Given the description of an element on the screen output the (x, y) to click on. 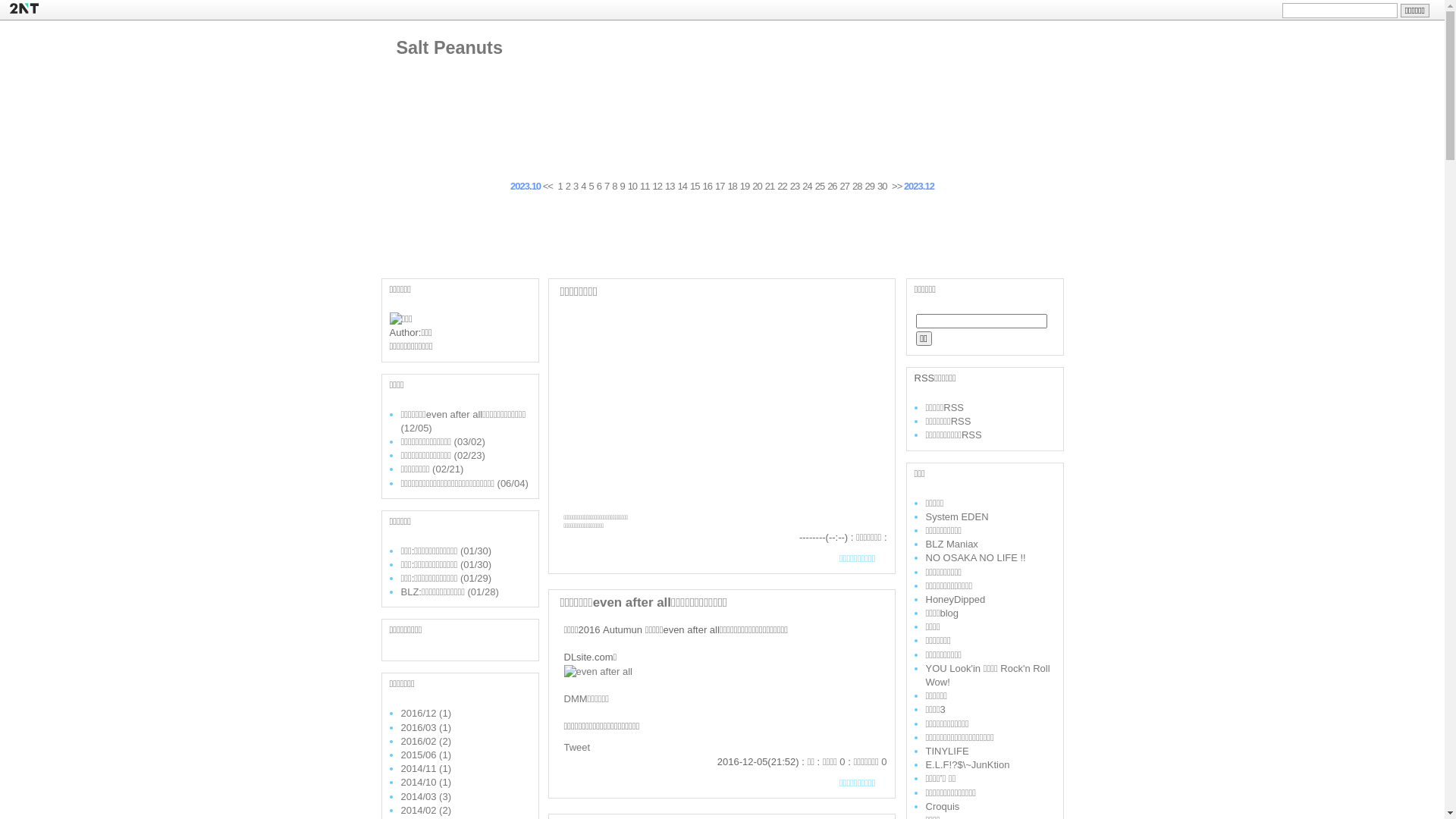
2014/11 (1) Element type: text (425, 768)
2014/03 (3) Element type: text (425, 796)
Salt Peanuts Element type: text (448, 47)
TINYLIFE Element type: text (946, 750)
HoneyDipped Element type: text (955, 599)
2023.12 Element type: text (918, 185)
Croquis Element type: text (942, 806)
E.L.F!?$\~JunKtion Element type: text (967, 764)
NO OSAKA NO LIFE !! Element type: text (975, 557)
2016/02 (2) Element type: text (425, 740)
2023.10 Element type: text (525, 185)
even after all Element type: hover (598, 670)
2016/12 (1) Element type: text (425, 712)
2014/02 (2) Element type: text (425, 809)
2014/10 (1) Element type: text (425, 781)
2015/06 (1) Element type: text (425, 754)
System EDEN Element type: text (956, 516)
BLZ Maniax Element type: text (951, 543)
Tweet Element type: text (577, 747)
2016/03 (1) Element type: text (425, 727)
